Given the description of an element on the screen output the (x, y) to click on. 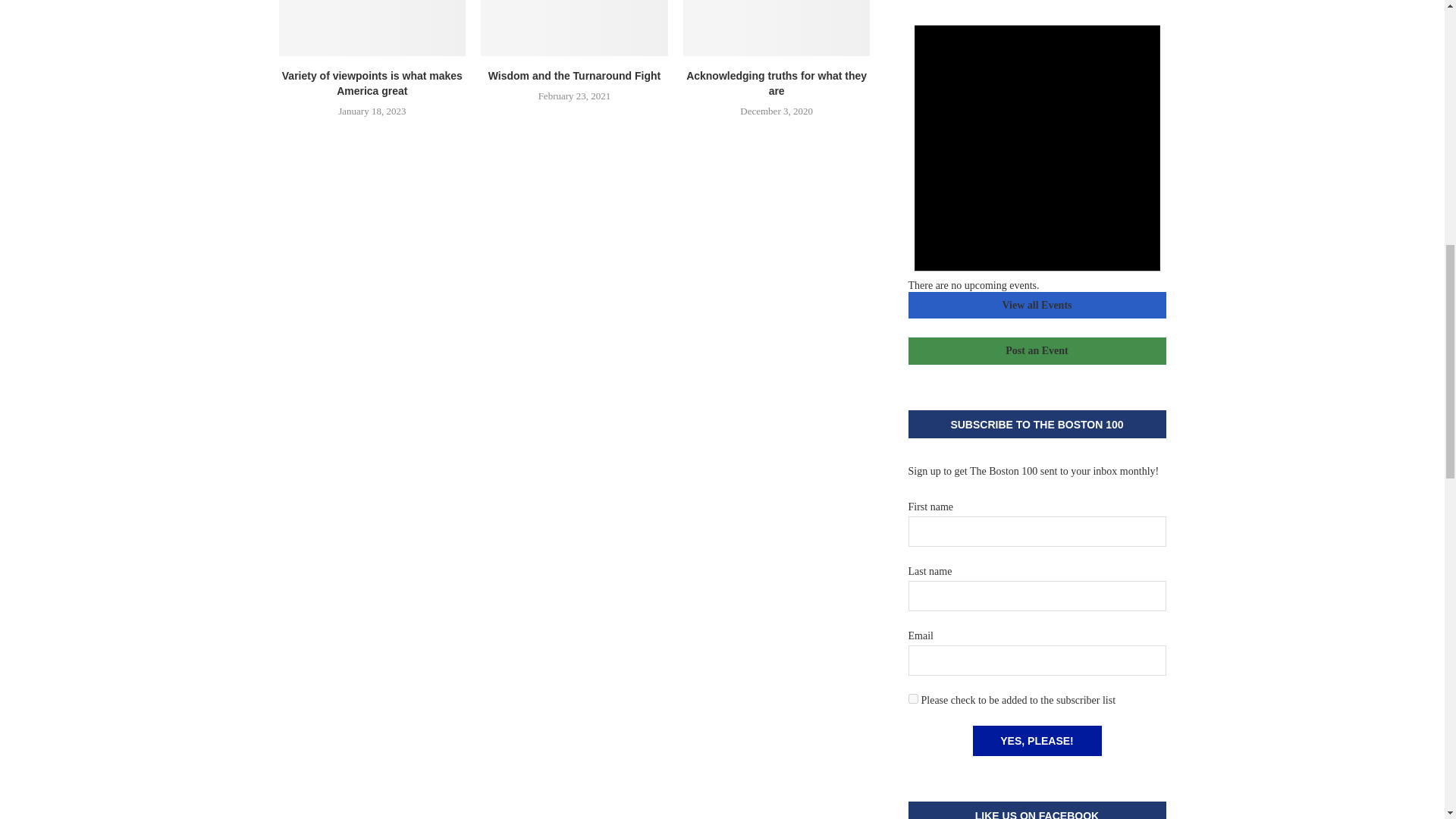
YES, PLEASE! (1036, 740)
Acknowledging truths for what they are (776, 28)
Wisdom and the Turnaround Fight (574, 28)
Variety of viewpoints is what makes America great (372, 83)
Variety of viewpoints is what makes America great (372, 28)
1 (913, 698)
